Given the description of an element on the screen output the (x, y) to click on. 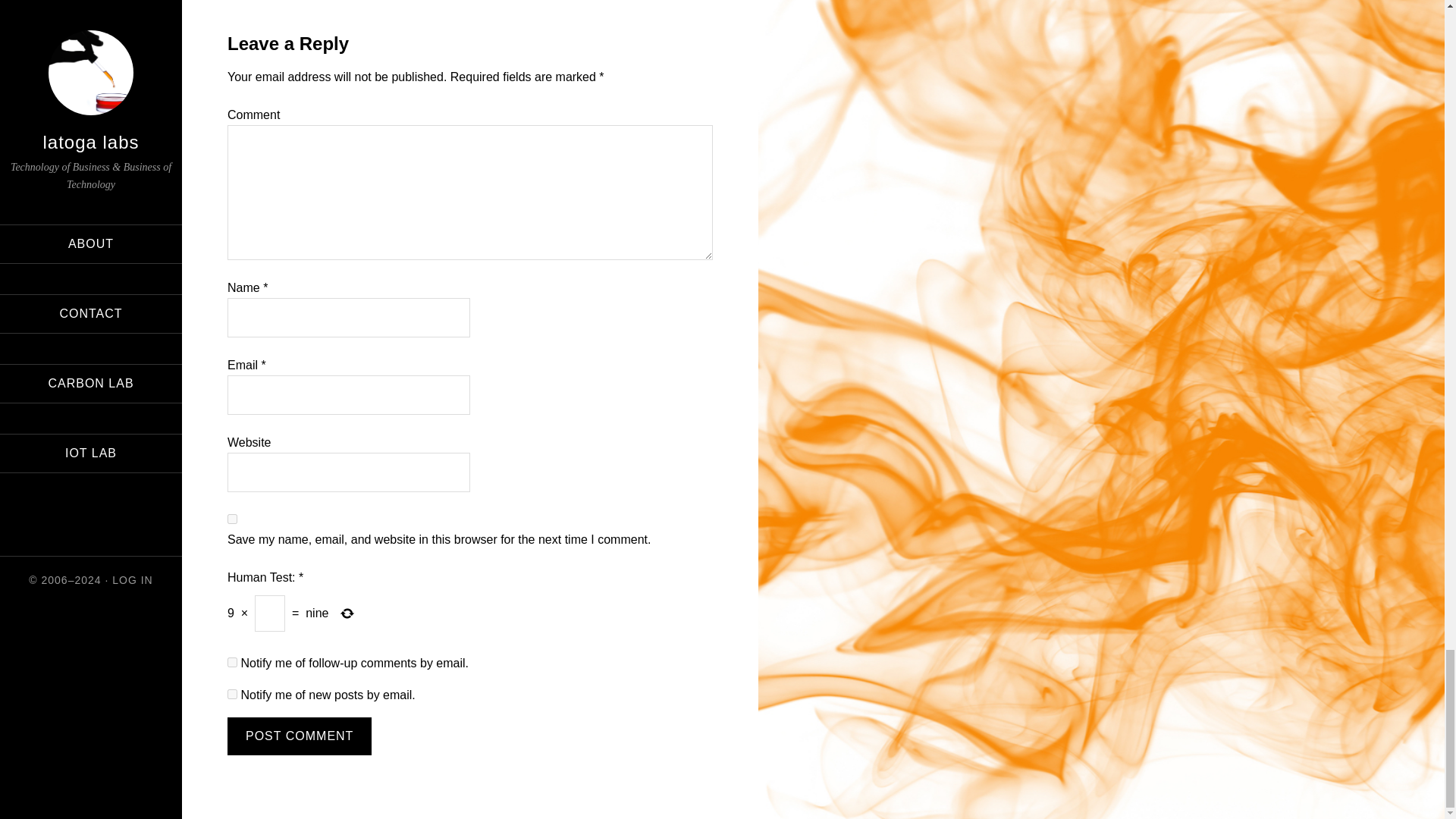
Post Comment (299, 736)
subscribe (232, 694)
Post Comment (299, 736)
subscribe (232, 662)
yes (232, 519)
